Given the description of an element on the screen output the (x, y) to click on. 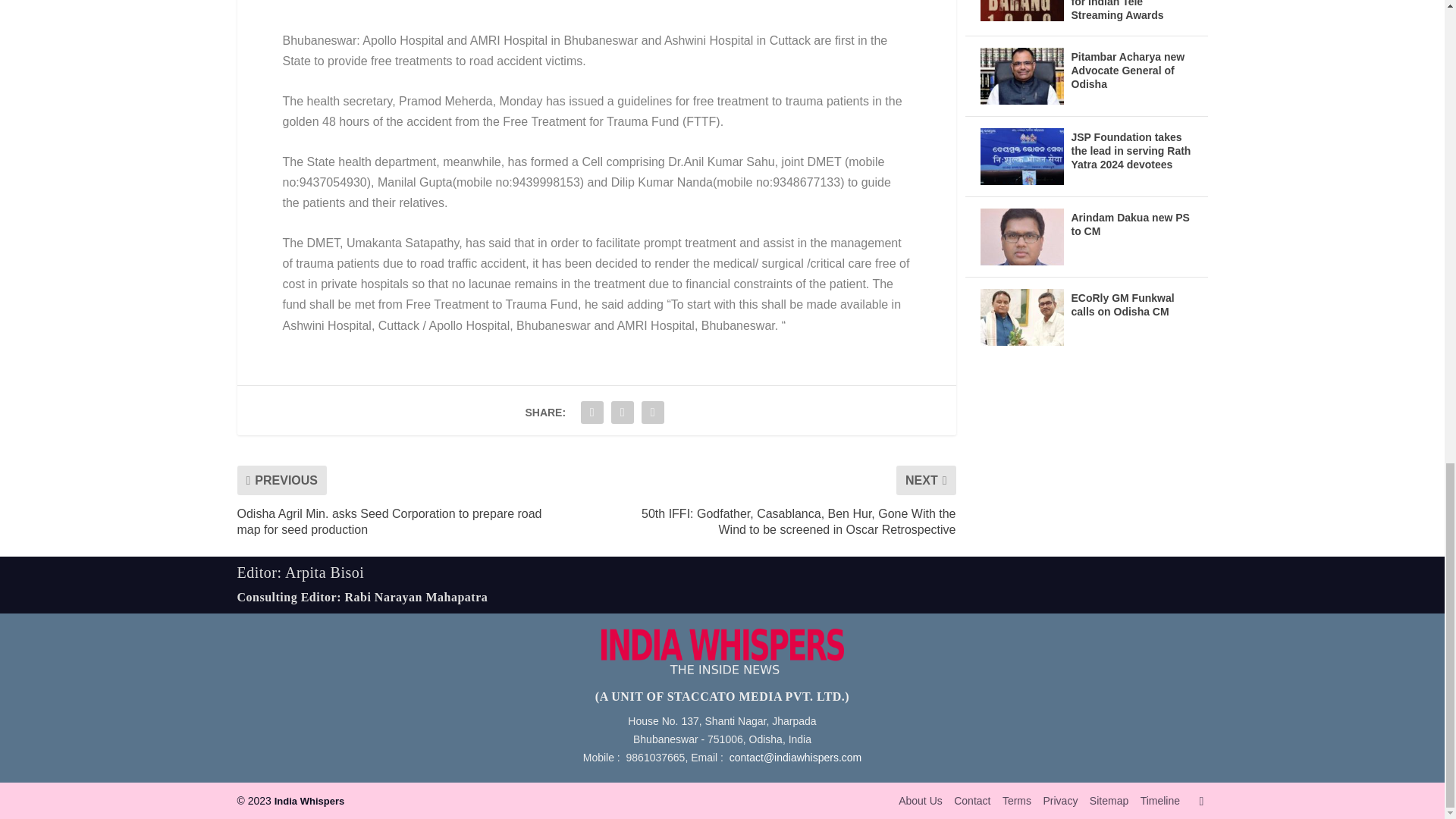
Pitambar Acharya new Advocate General of Odisha (1020, 75)
